Given the description of an element on the screen output the (x, y) to click on. 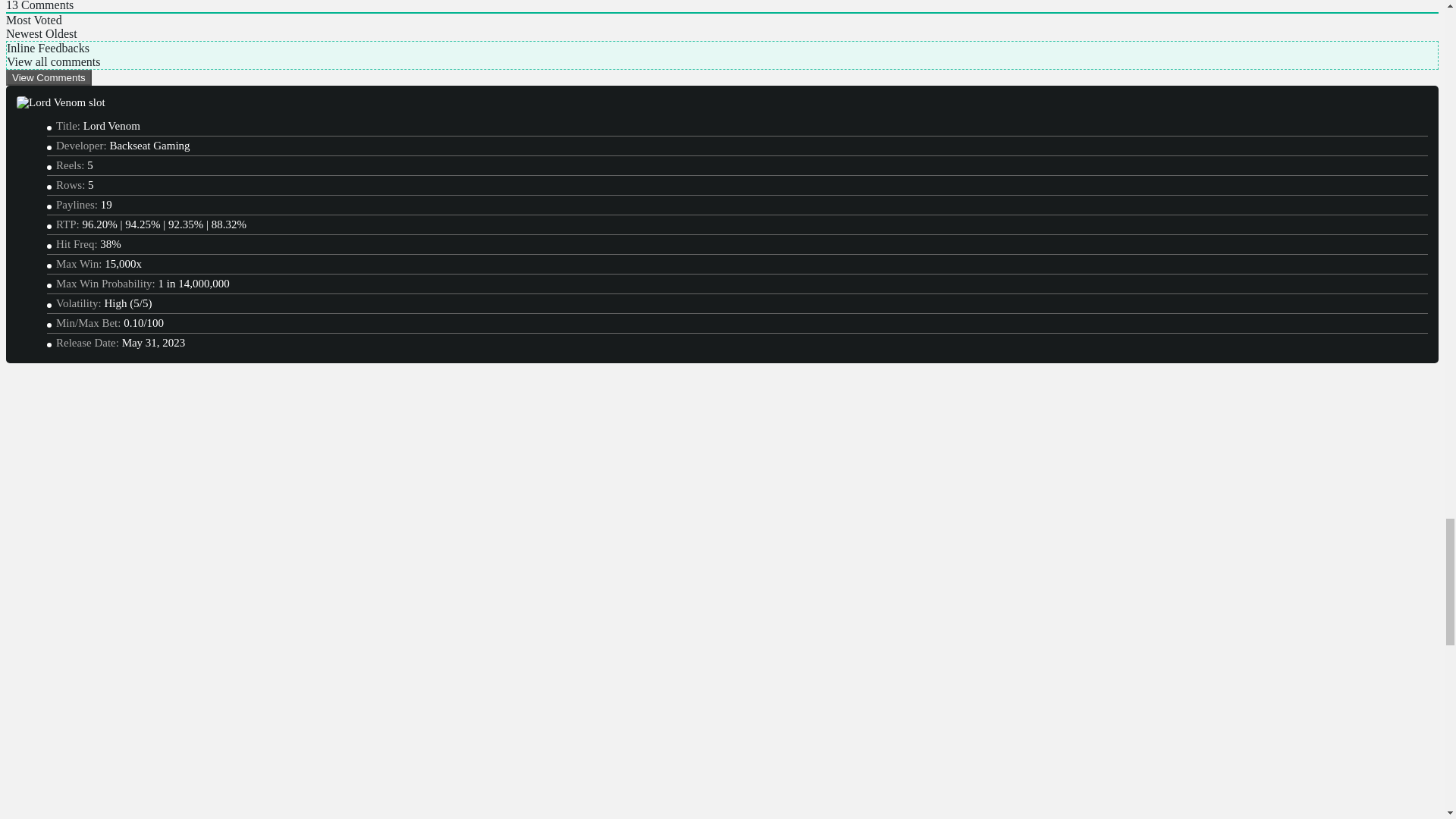
13 (11, 5)
